Given the description of an element on the screen output the (x, y) to click on. 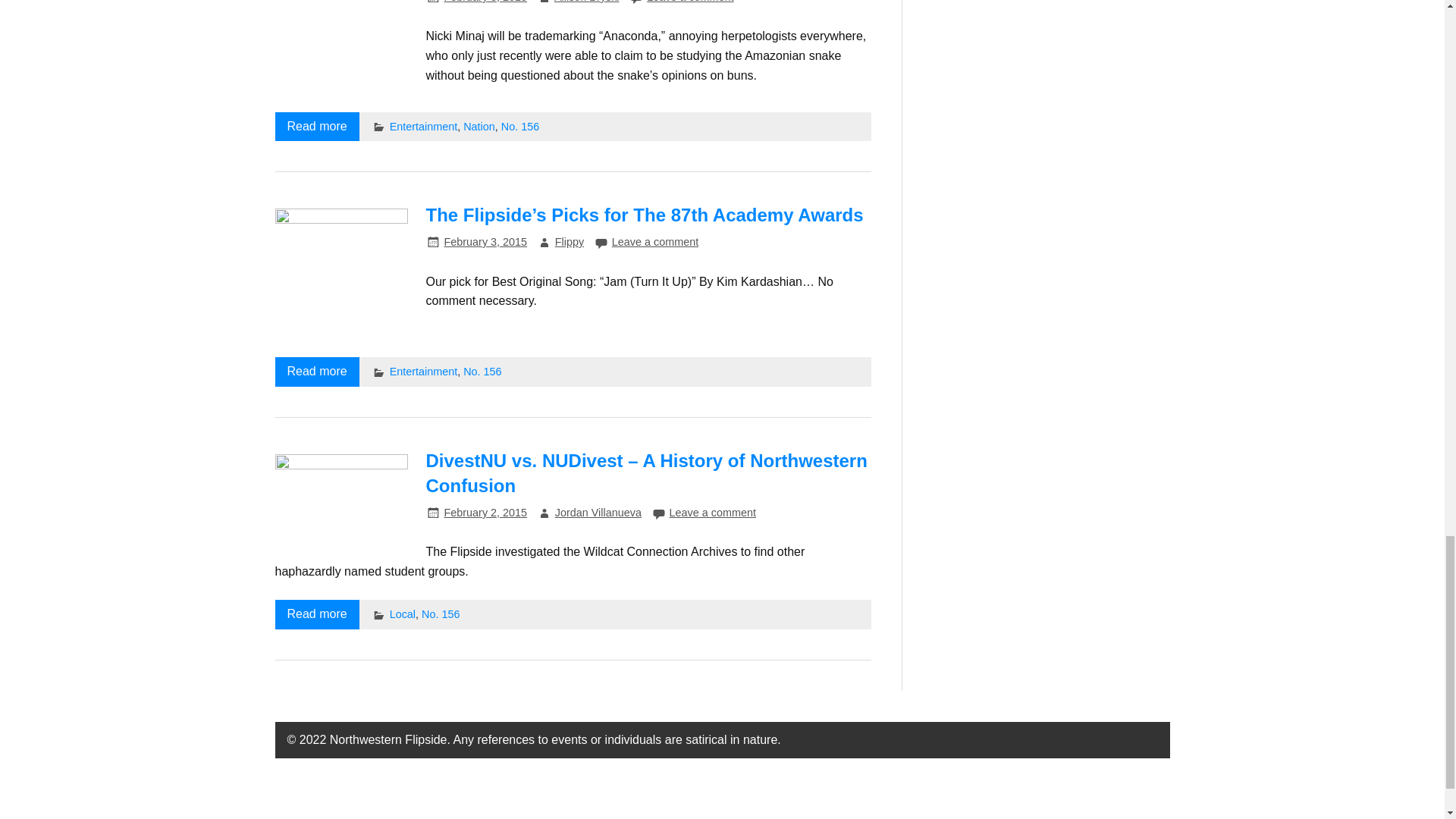
2:00 pm (485, 1)
10:00 am (485, 512)
View all posts by Flippy (568, 241)
10:00 am (485, 241)
View all posts by Allison Bryski (587, 1)
